Given the description of an element on the screen output the (x, y) to click on. 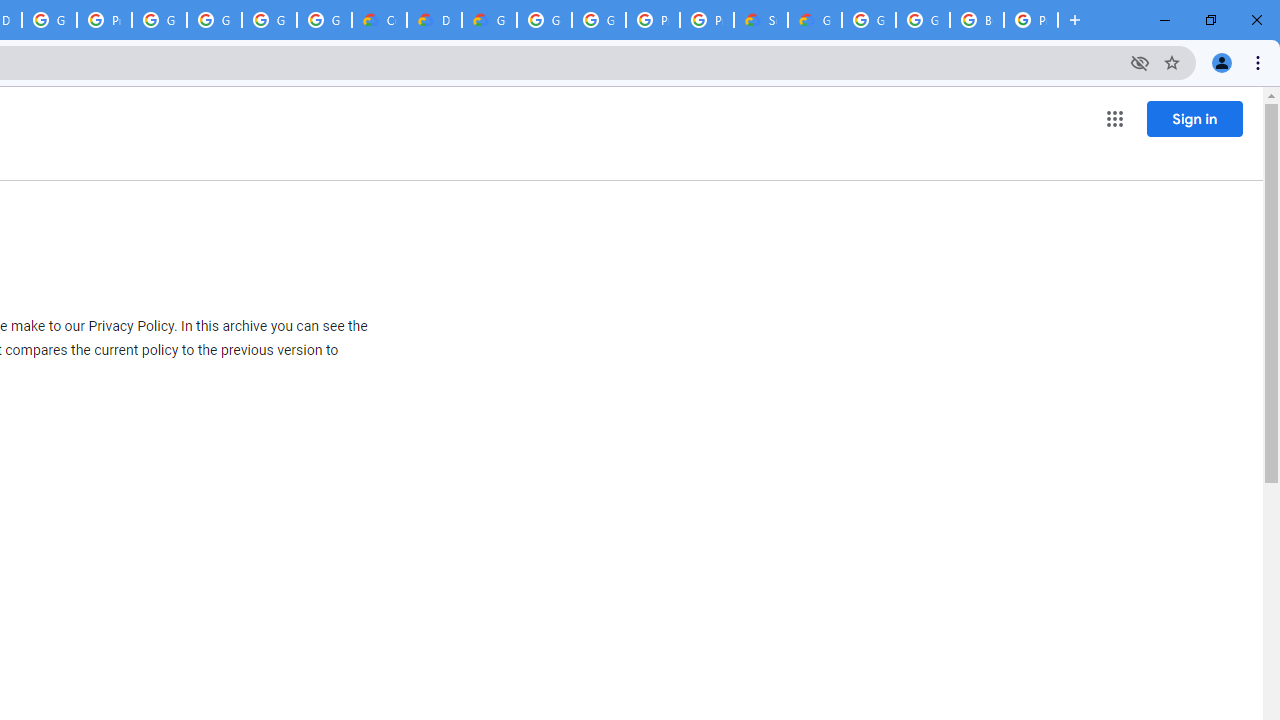
Google Workspace - Specific Terms (324, 20)
Google Cloud Service Health (815, 20)
Google Workspace - Specific Terms (268, 20)
Google Cloud Platform (868, 20)
Gemini for Business and Developers | Google Cloud (489, 20)
